Given the description of an element on the screen output the (x, y) to click on. 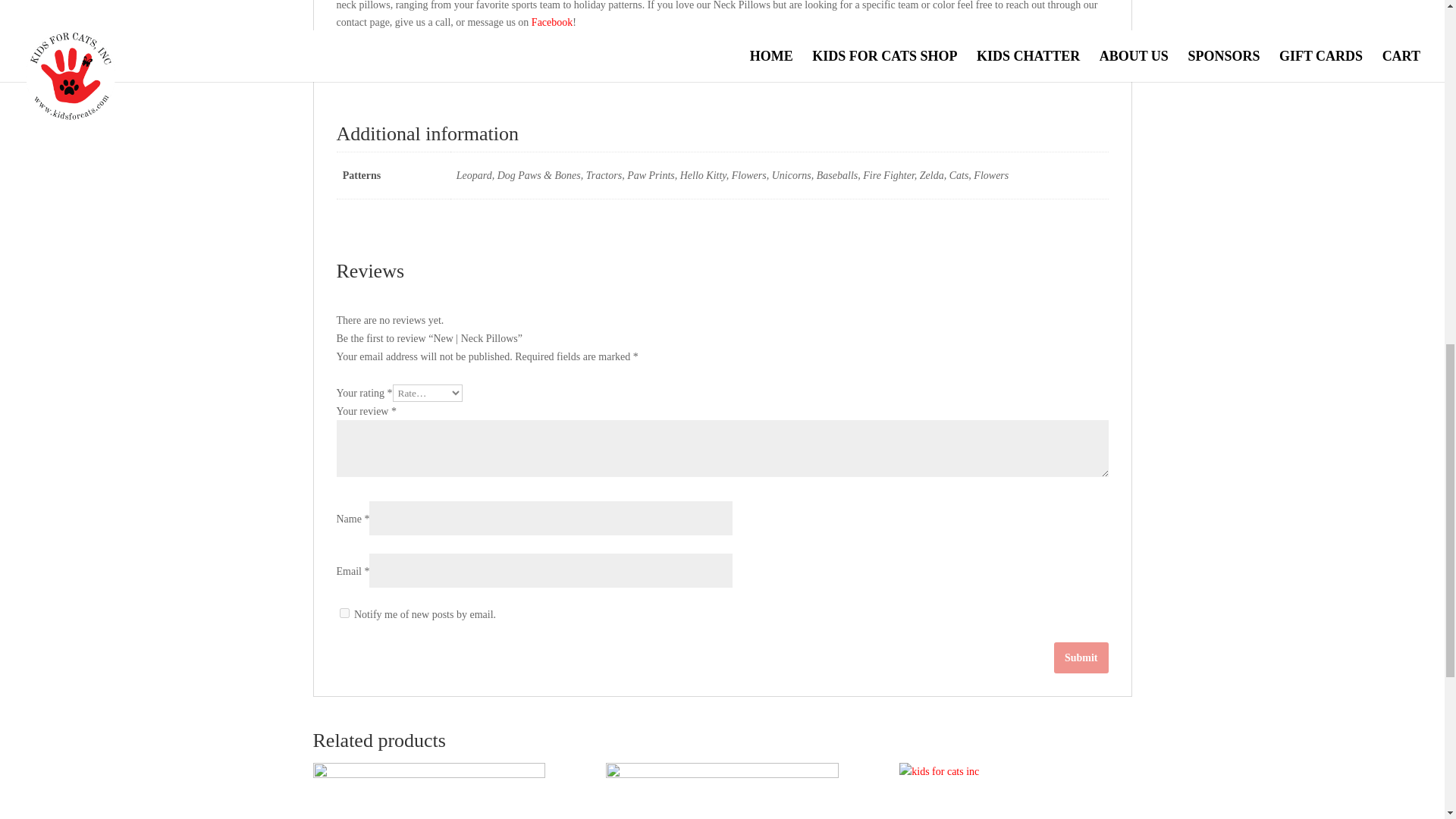
Submit (1081, 657)
Facebook (551, 21)
subscribe (344, 613)
Submit (1081, 657)
